Given the description of an element on the screen output the (x, y) to click on. 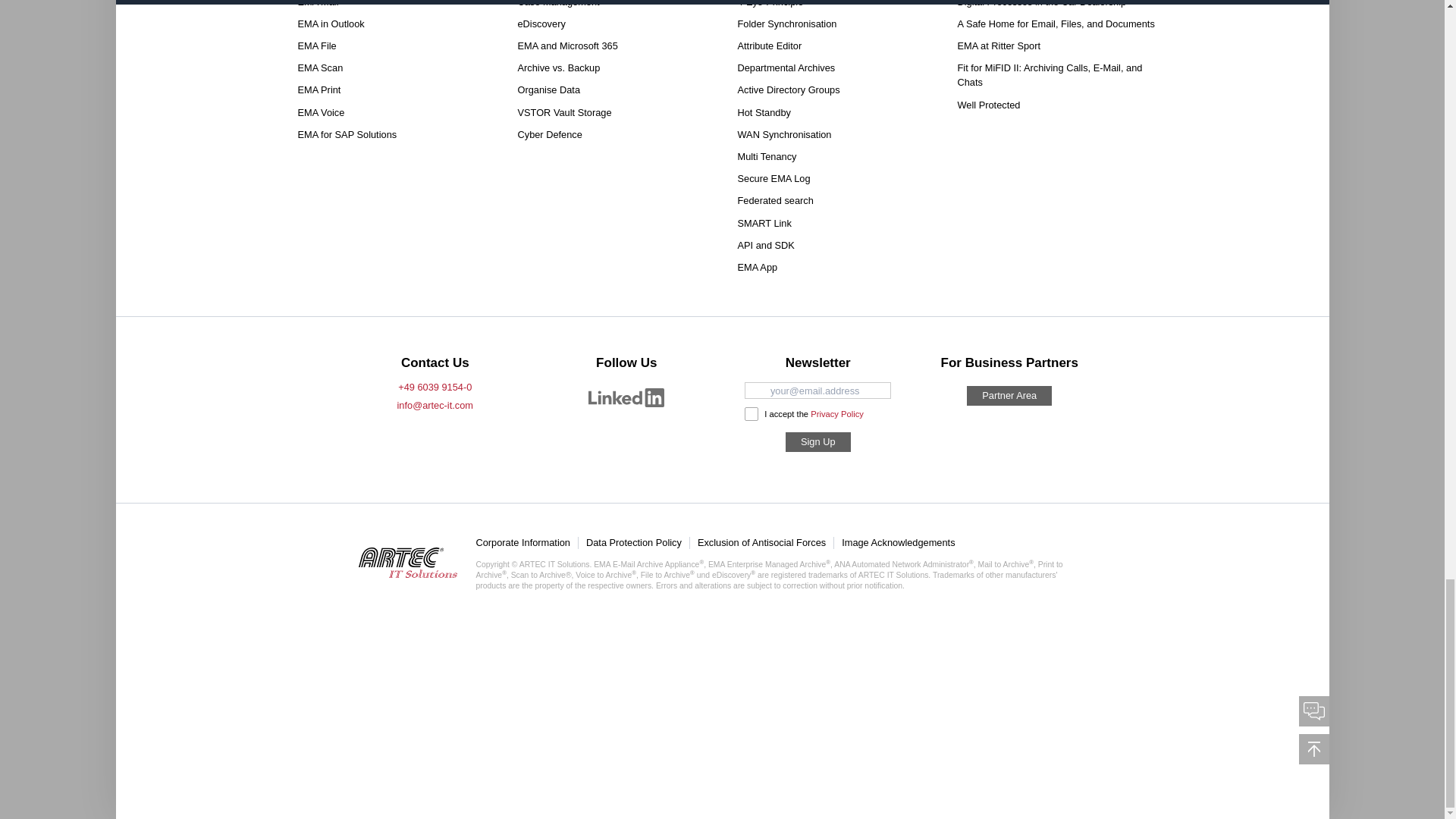
EMA File (316, 45)
EMA Mail (317, 6)
EMA in Outlook (330, 24)
Sign Up (818, 442)
